Given the description of an element on the screen output the (x, y) to click on. 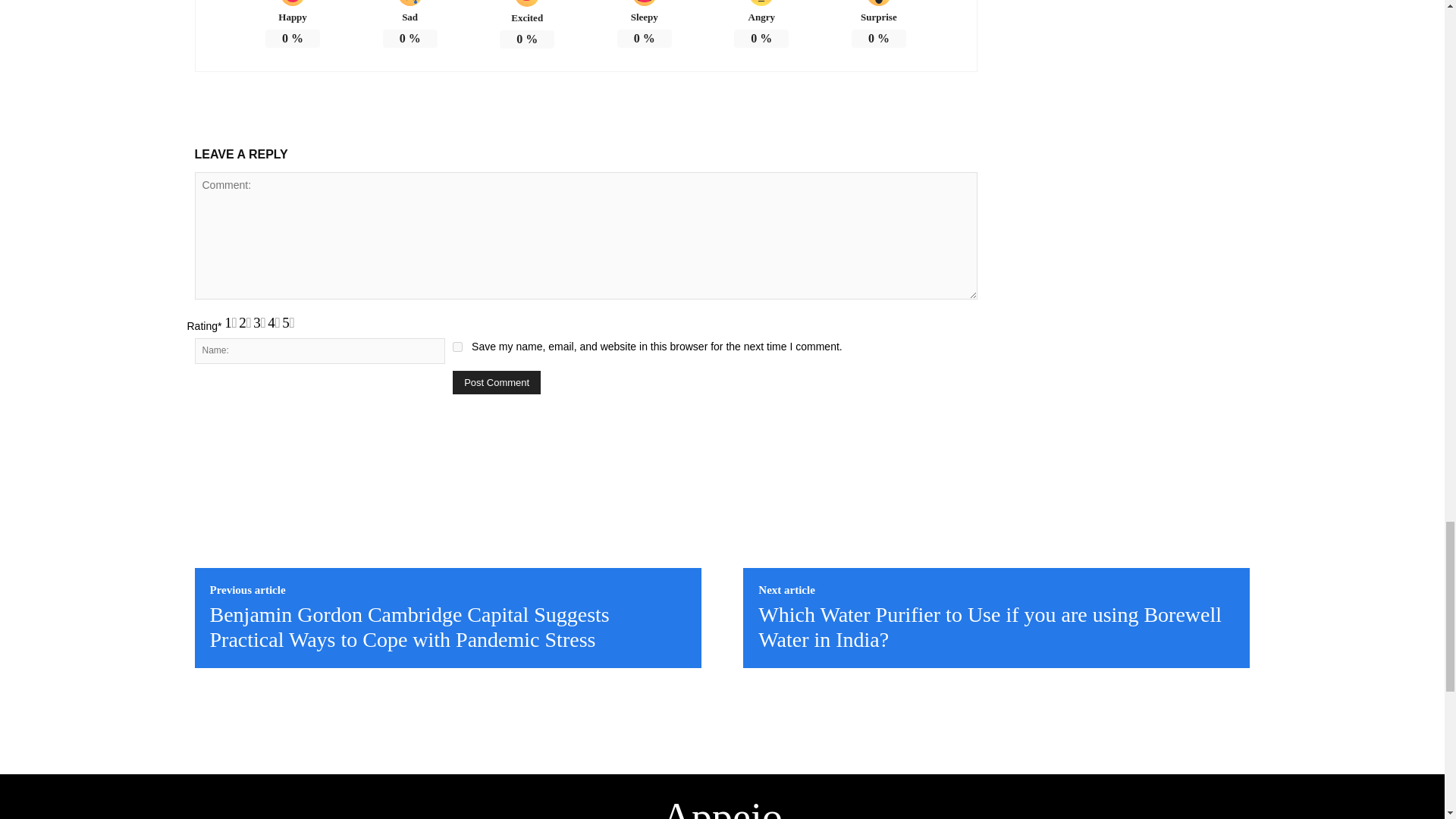
yes (457, 347)
Post Comment (496, 382)
